Given the description of an element on the screen output the (x, y) to click on. 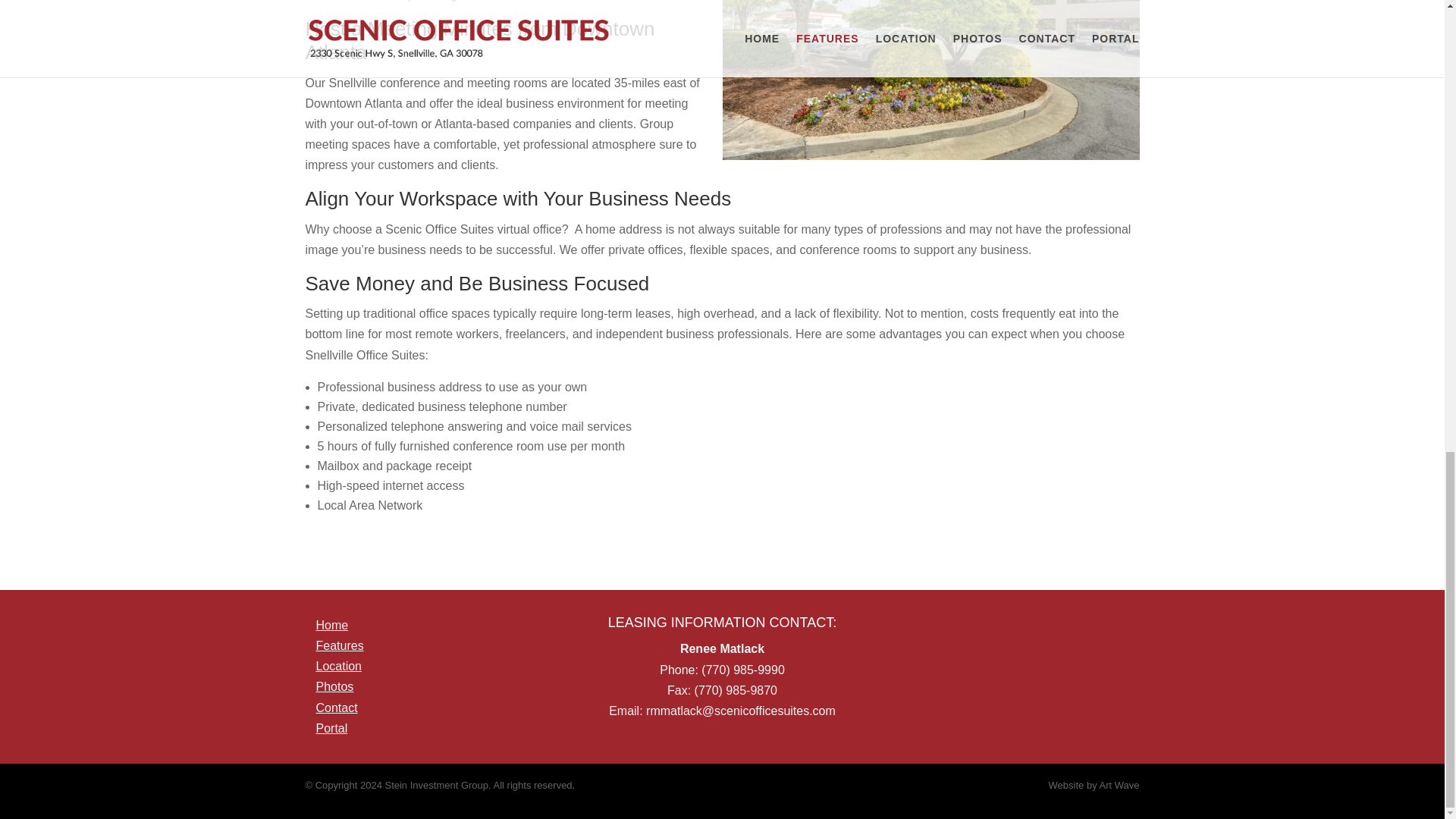
Contact (335, 707)
Photos (334, 686)
Website by Art Wave (1094, 785)
website developer (1094, 785)
Portal (331, 727)
Location (338, 666)
Home (331, 625)
Features (338, 645)
